Given the description of an element on the screen output the (x, y) to click on. 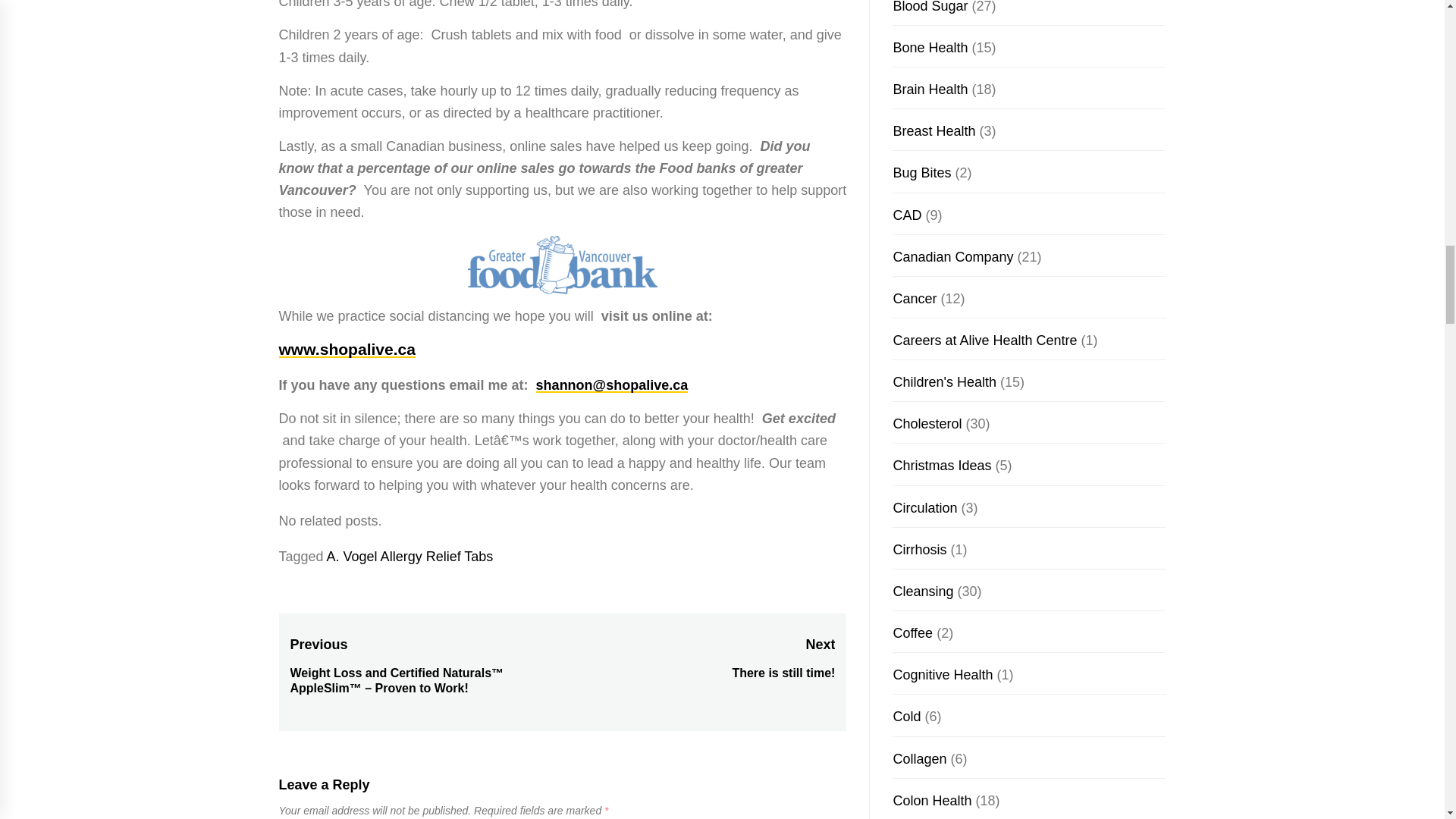
www.shopalive.ca (698, 658)
A. Vogel Allergy Relief Tabs (347, 348)
